Given the description of an element on the screen output the (x, y) to click on. 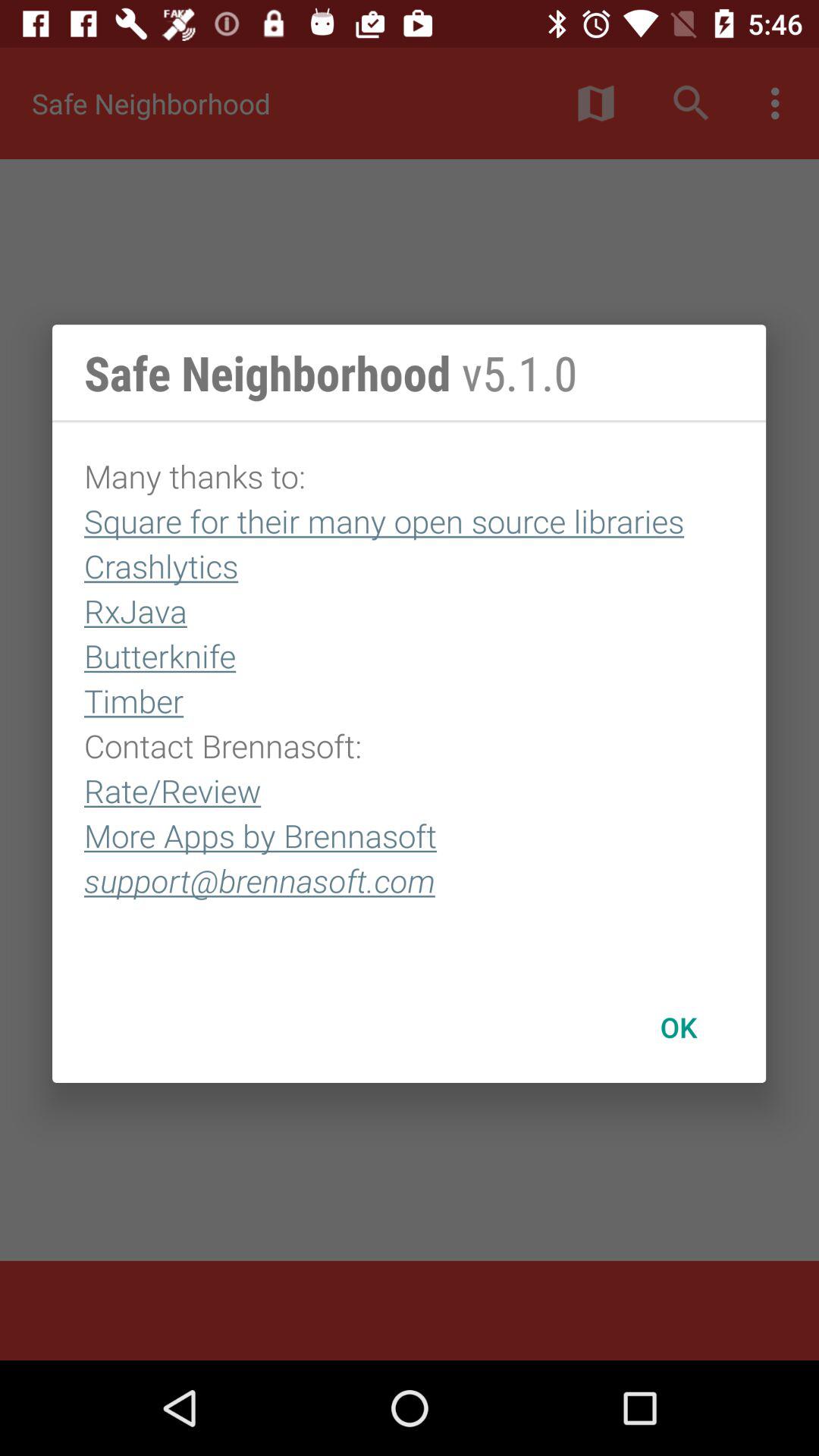
select icon at the center (409, 696)
